Given the description of an element on the screen output the (x, y) to click on. 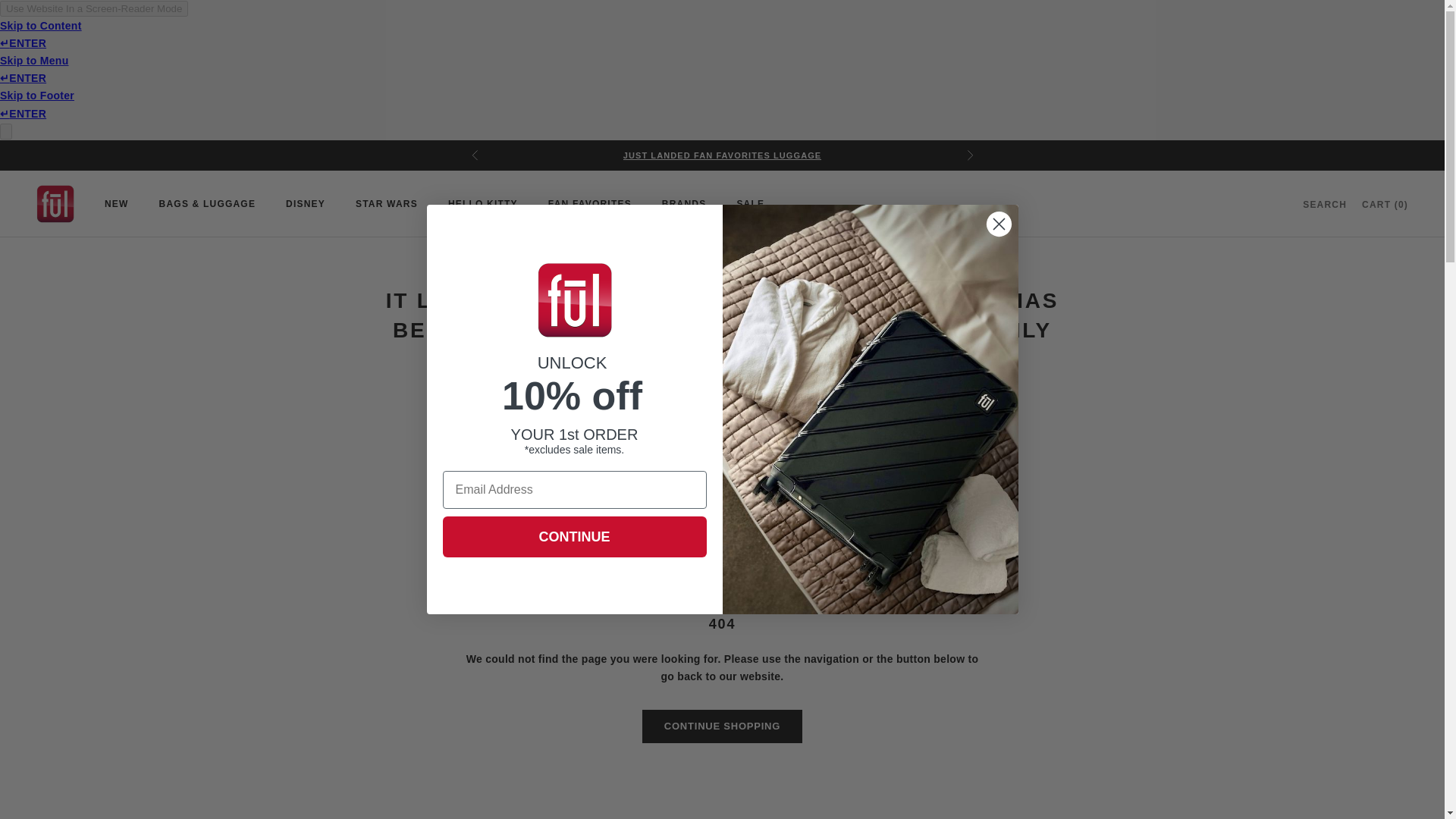
JUST LANDED FAN FAVORITES LUGGAGE (722, 154)
Ful Luggage (55, 203)
Close dialog 1 (998, 223)
New Fan Favorites Luggage (722, 154)
